Given the description of an element on the screen output the (x, y) to click on. 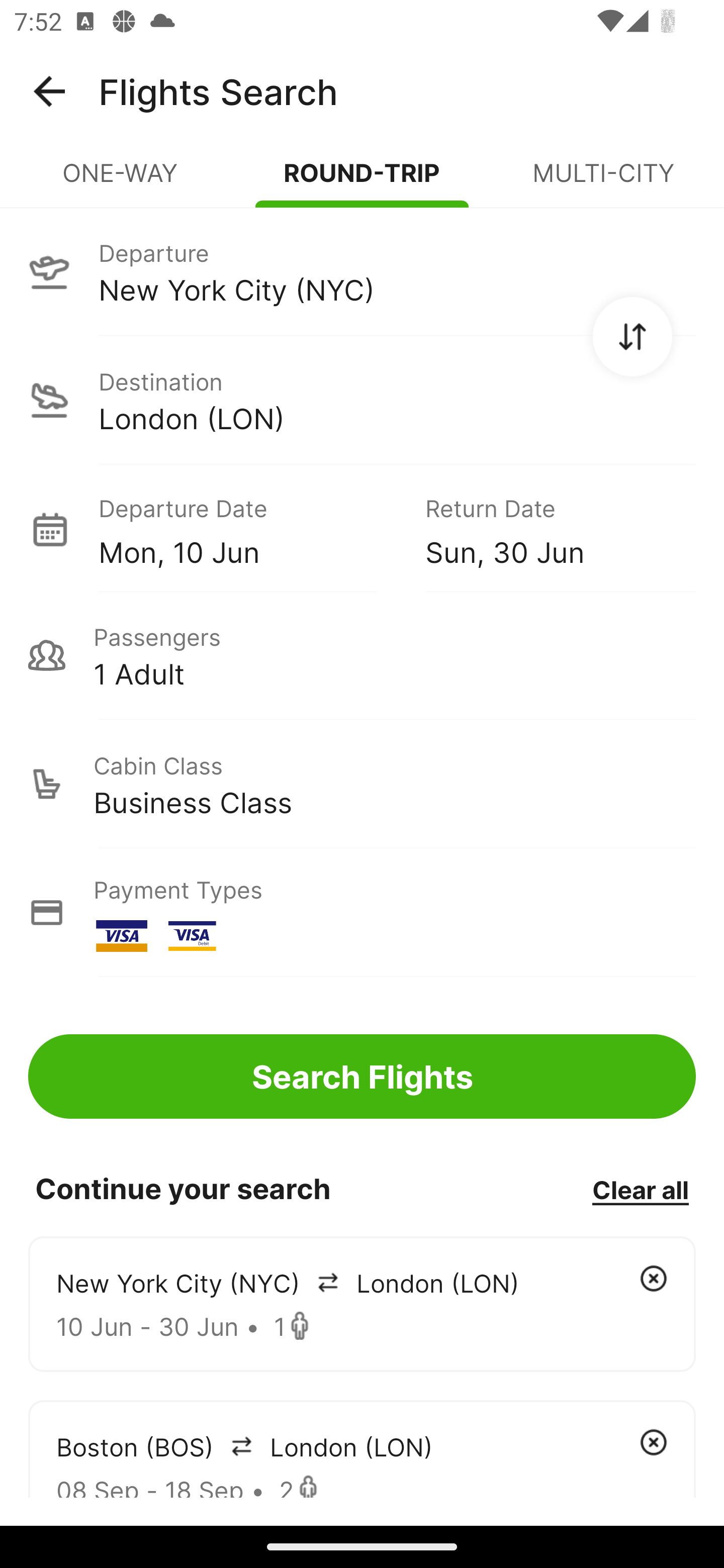
ONE-WAY (120, 180)
ROUND-TRIP (361, 180)
MULTI-CITY (603, 180)
Departure New York City (NYC) (362, 270)
Destination London (LON) (362, 400)
Departure Date Mon, 10 Jun (247, 528)
Return Date Sun, 30 Jun (546, 528)
Passengers 1 Adult (362, 655)
Cabin Class Business Class (362, 783)
Payment Types (362, 912)
Search Flights (361, 1075)
Clear all (640, 1189)
